Given the description of an element on the screen output the (x, y) to click on. 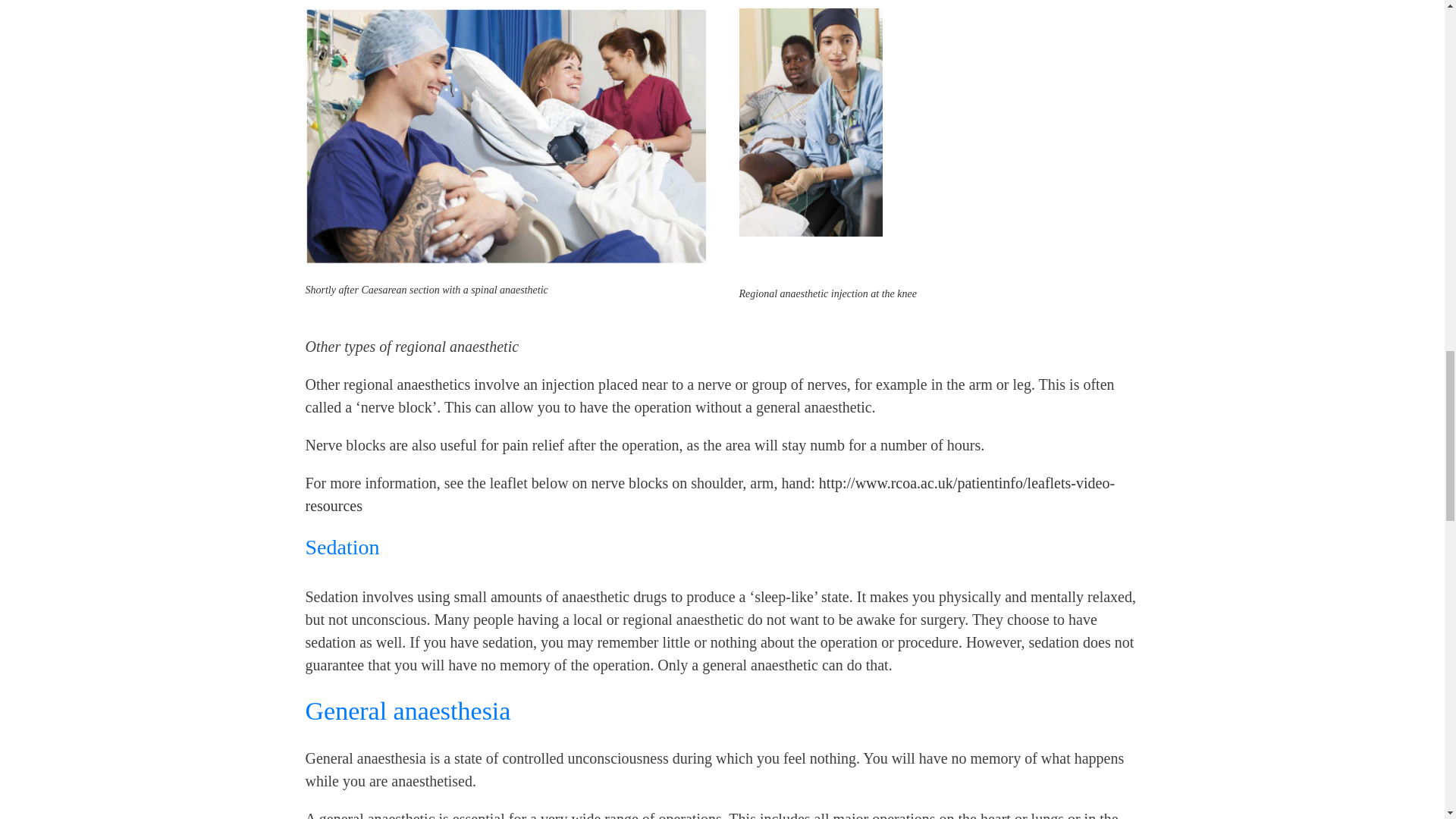
4 (504, 135)
